Given the description of an element on the screen output the (x, y) to click on. 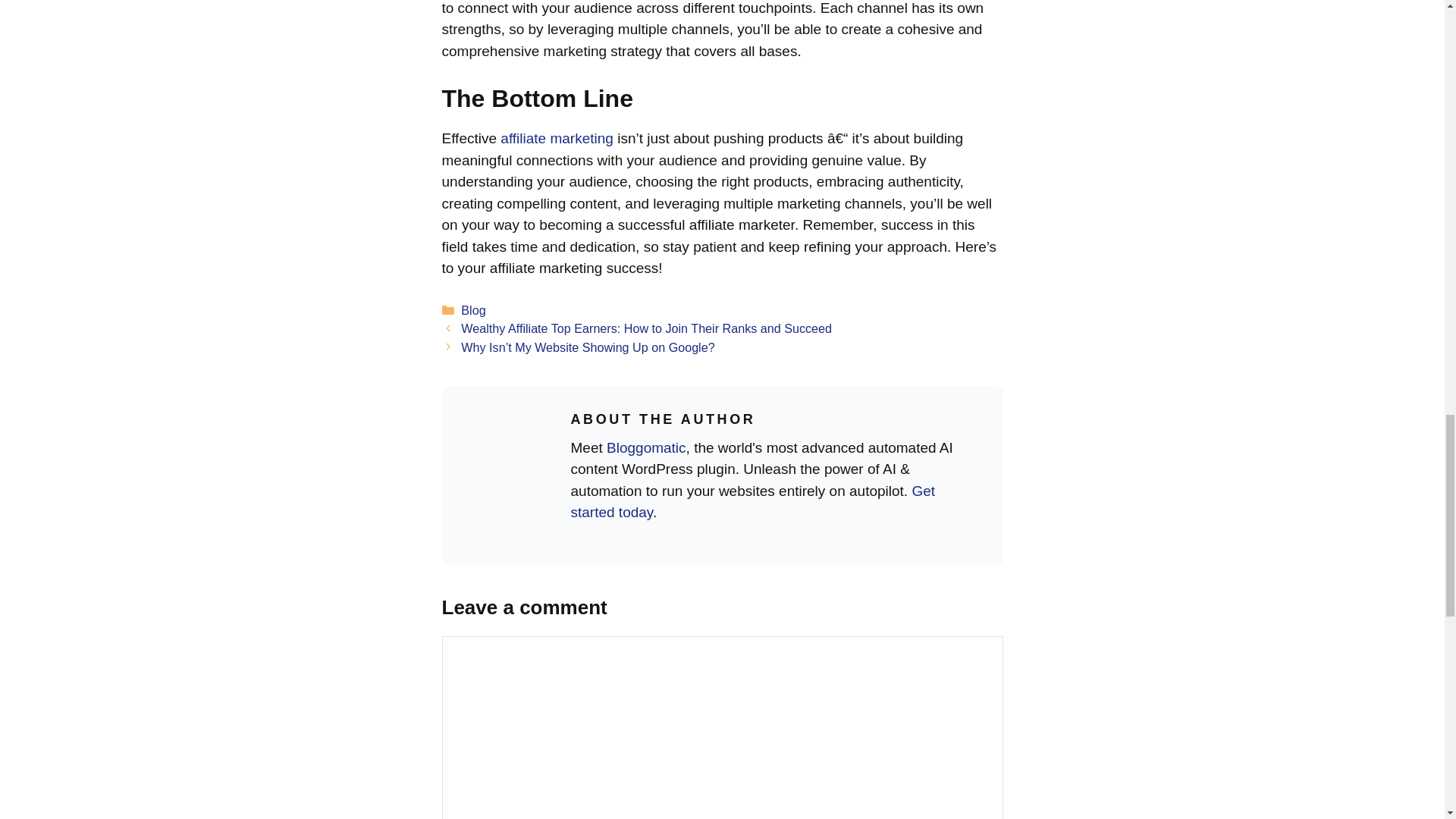
affiliate marketing (556, 138)
Bloggomatic (646, 447)
Get started today (752, 501)
Blog (472, 309)
